Given the description of an element on the screen output the (x, y) to click on. 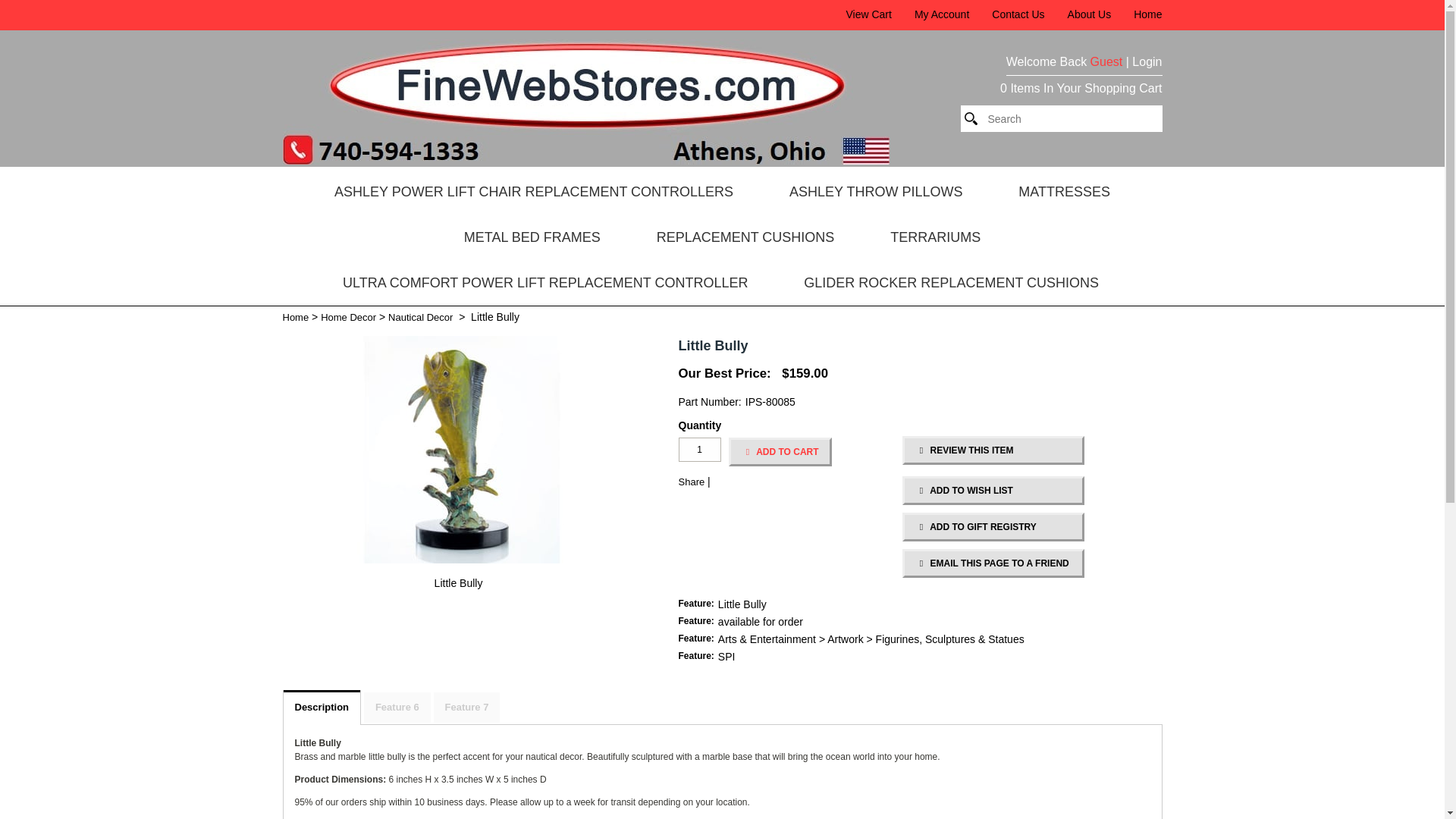
My Account (941, 14)
METAL BED FRAMES (532, 237)
Contact Us (1017, 14)
View Cart (868, 14)
0 Items In Your Shopping Cart (1080, 89)
Home (1147, 14)
About Us (1089, 14)
Home Decor (347, 317)
REPLACEMENT CUSHIONS (745, 237)
TERRARIUMS (935, 237)
